Given the description of an element on the screen output the (x, y) to click on. 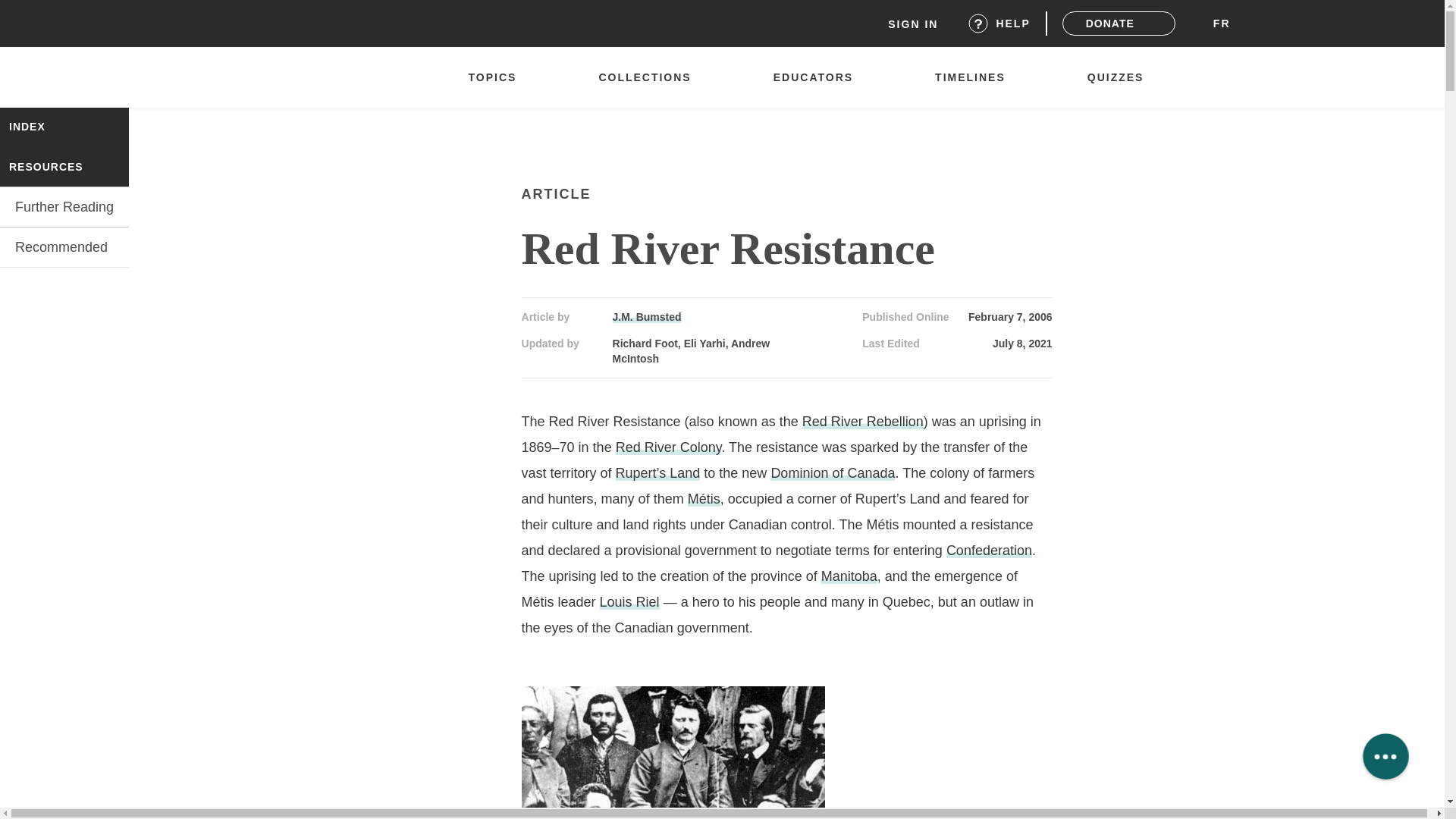
COLLECTIONS (651, 77)
TOPICS (499, 77)
Louis Riel and the Provisional Government (673, 752)
